Given the description of an element on the screen output the (x, y) to click on. 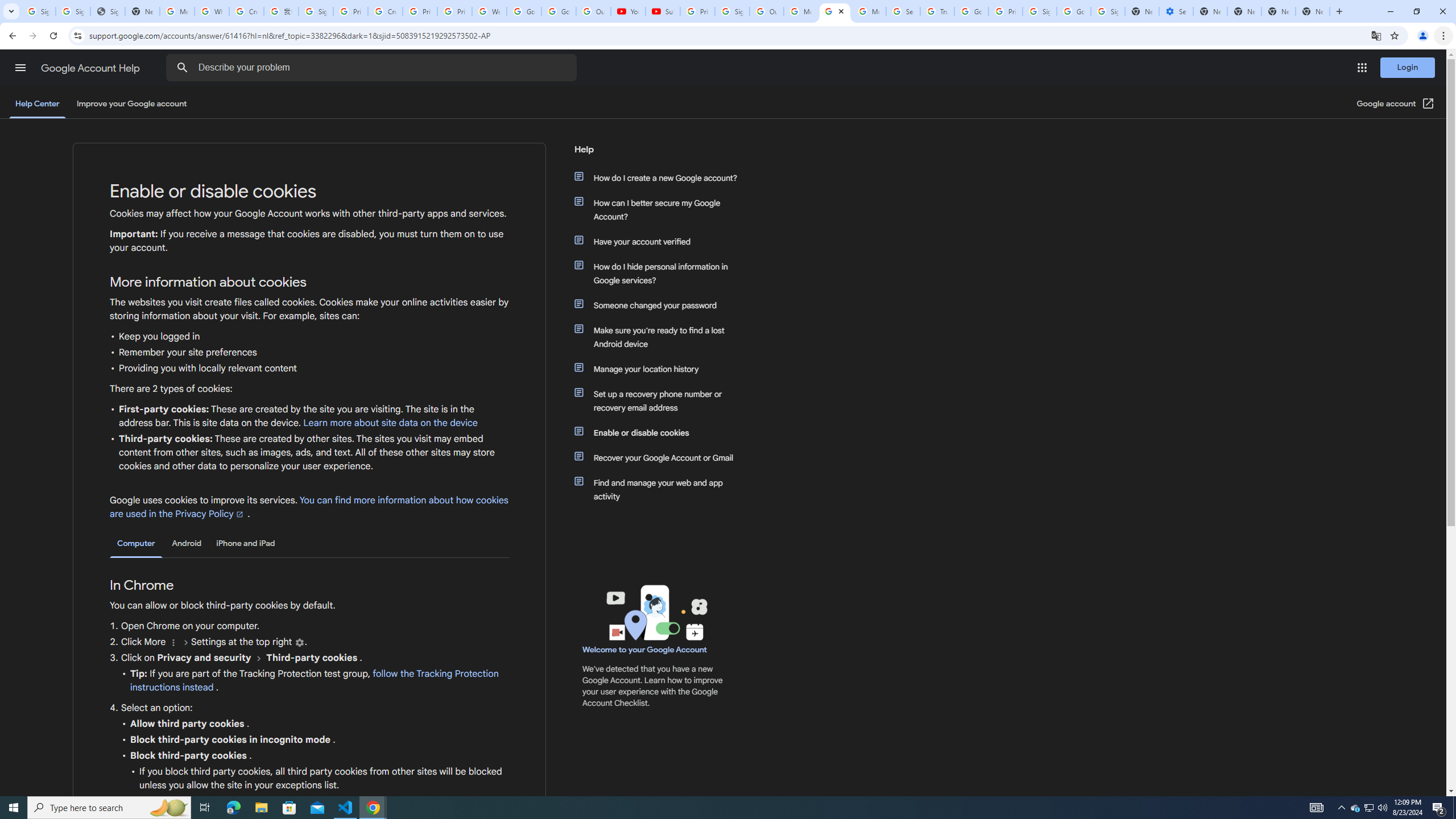
Welcome to My Activity (489, 11)
Sign in - Google Accounts (73, 11)
Computer (136, 543)
